Given the description of an element on the screen output the (x, y) to click on. 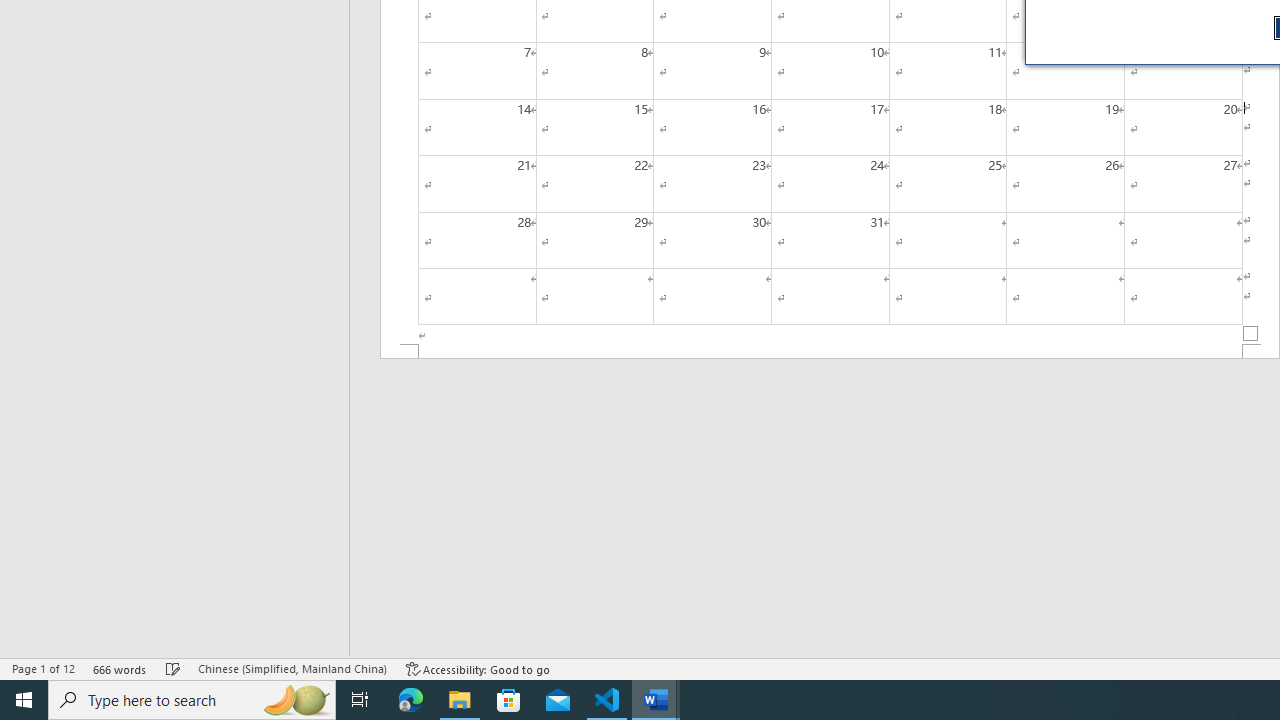
Microsoft Edge (411, 699)
Search highlights icon opens search home window (295, 699)
